Given the description of an element on the screen output the (x, y) to click on. 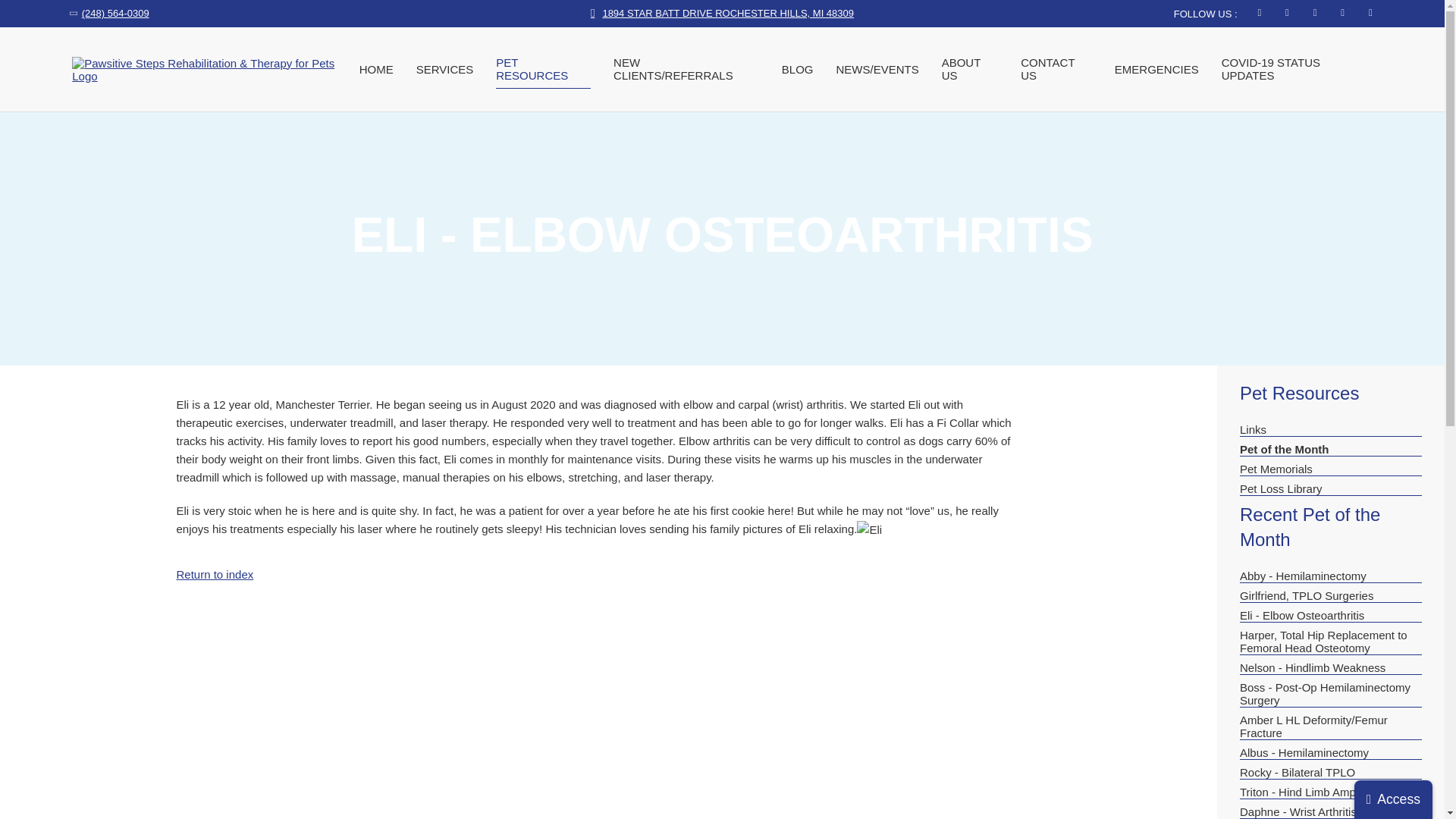
1894 STAR BATT DRIVE ROCHESTER HILLS, MI 48309 (722, 12)
PINTEREST (1339, 12)
Access (1393, 799)
TWITTER (1283, 12)
INSTAGRAM (1367, 12)
SERVICES (445, 68)
PET RESOURCES (543, 68)
BLOG (797, 68)
YOUTUBE (1311, 12)
FACEBOOK (1255, 12)
